Given the description of an element on the screen output the (x, y) to click on. 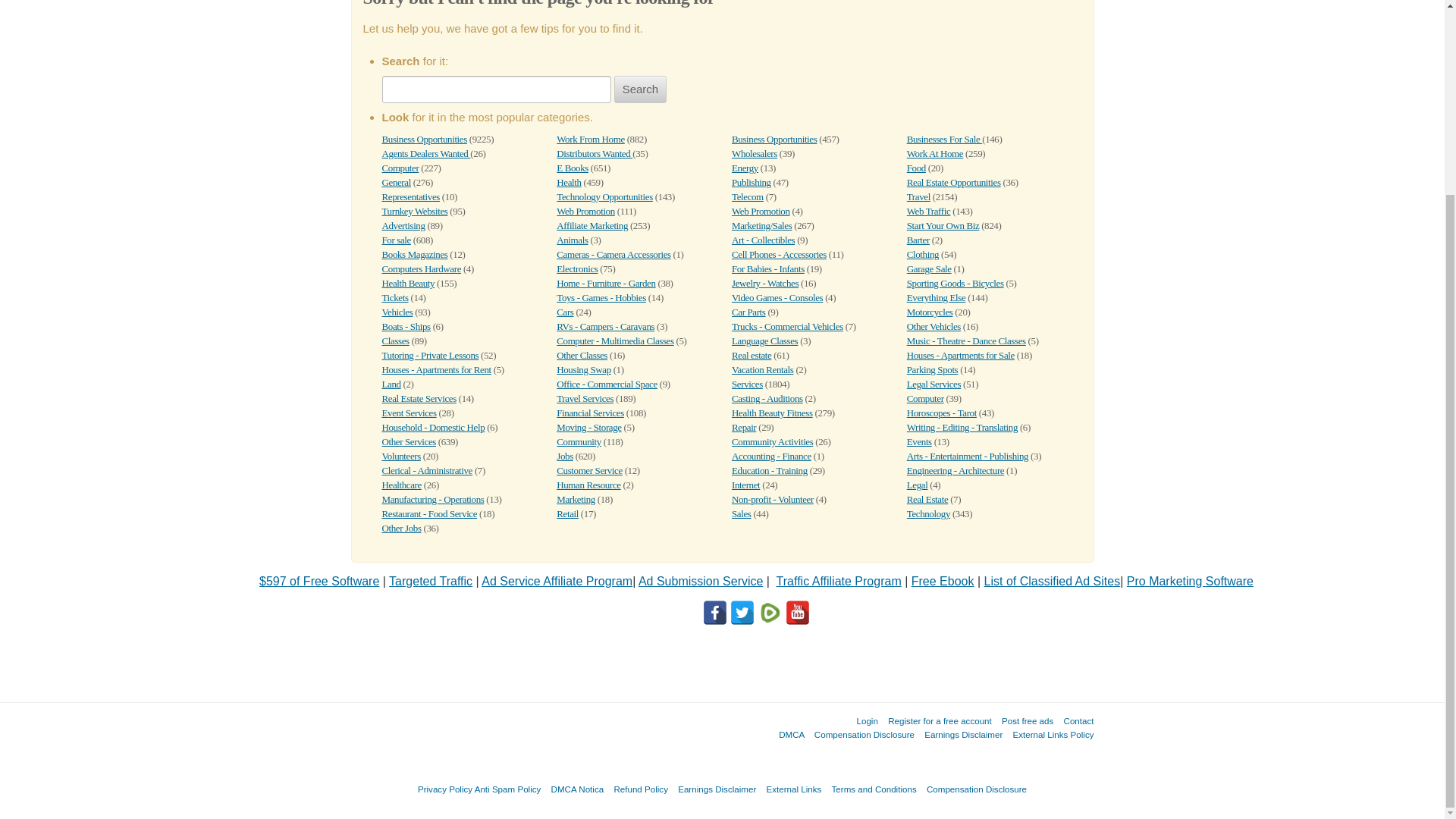
Health (568, 182)
Affiliate Marketing (591, 225)
Work From Home (590, 138)
For sale (395, 239)
Telecom (747, 196)
Art - Collectibles (763, 239)
Representatives (410, 196)
Agents Dealers Wanted (425, 153)
Web Promotion (585, 211)
Cameras - Camera Accessories (612, 254)
Business Opportunities (424, 138)
Books Magazines (414, 254)
Turnkey Websites (414, 211)
Start Your Own Biz (943, 225)
Work At Home (934, 153)
